Given the description of an element on the screen output the (x, y) to click on. 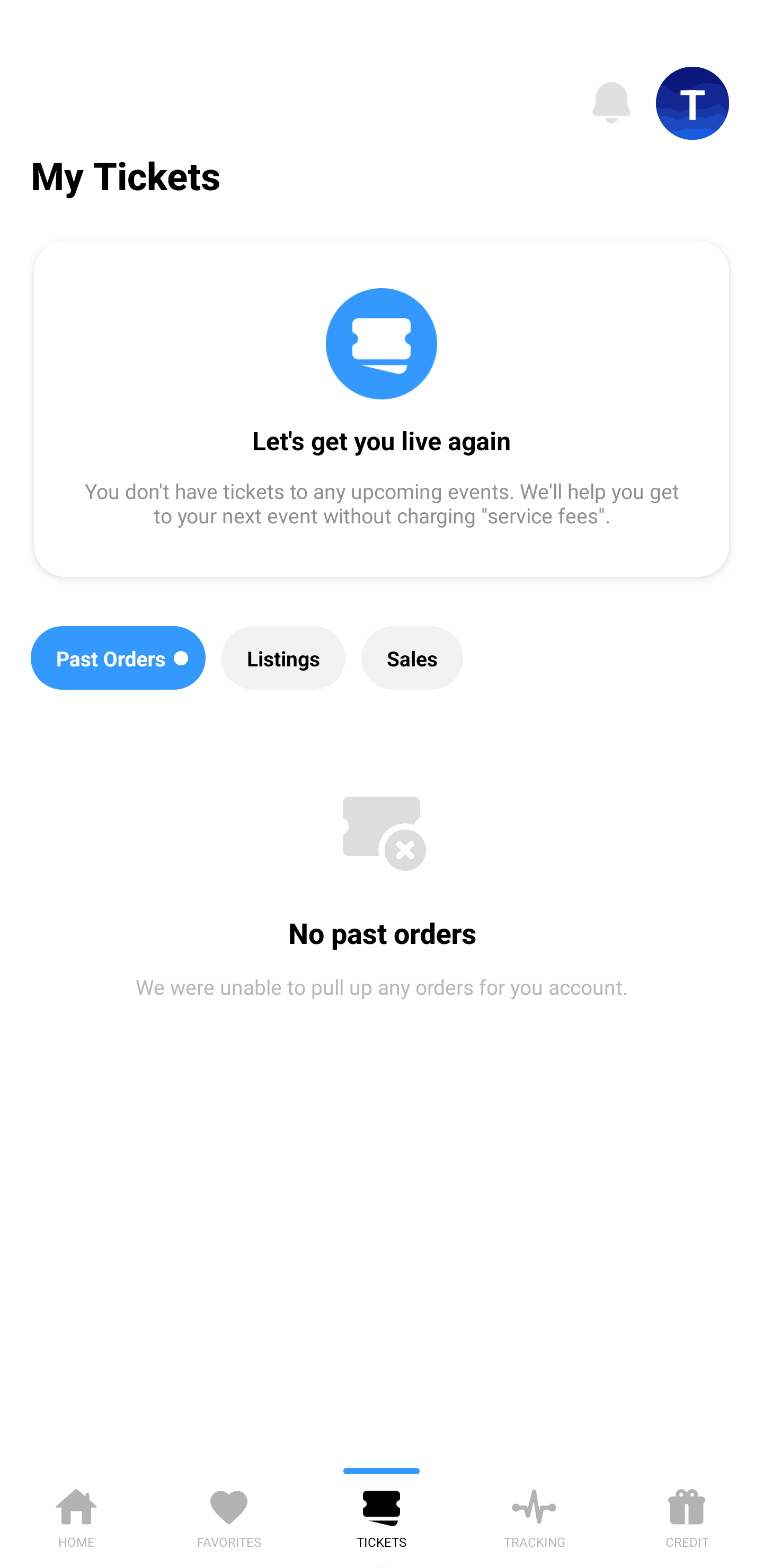
T (692, 103)
Past Orders (117, 657)
Listings (283, 657)
Sales (412, 657)
HOME (76, 1515)
FAVORITES (228, 1515)
TICKETS (381, 1515)
TRACKING (533, 1515)
CREDIT (686, 1515)
